Given the description of an element on the screen output the (x, y) to click on. 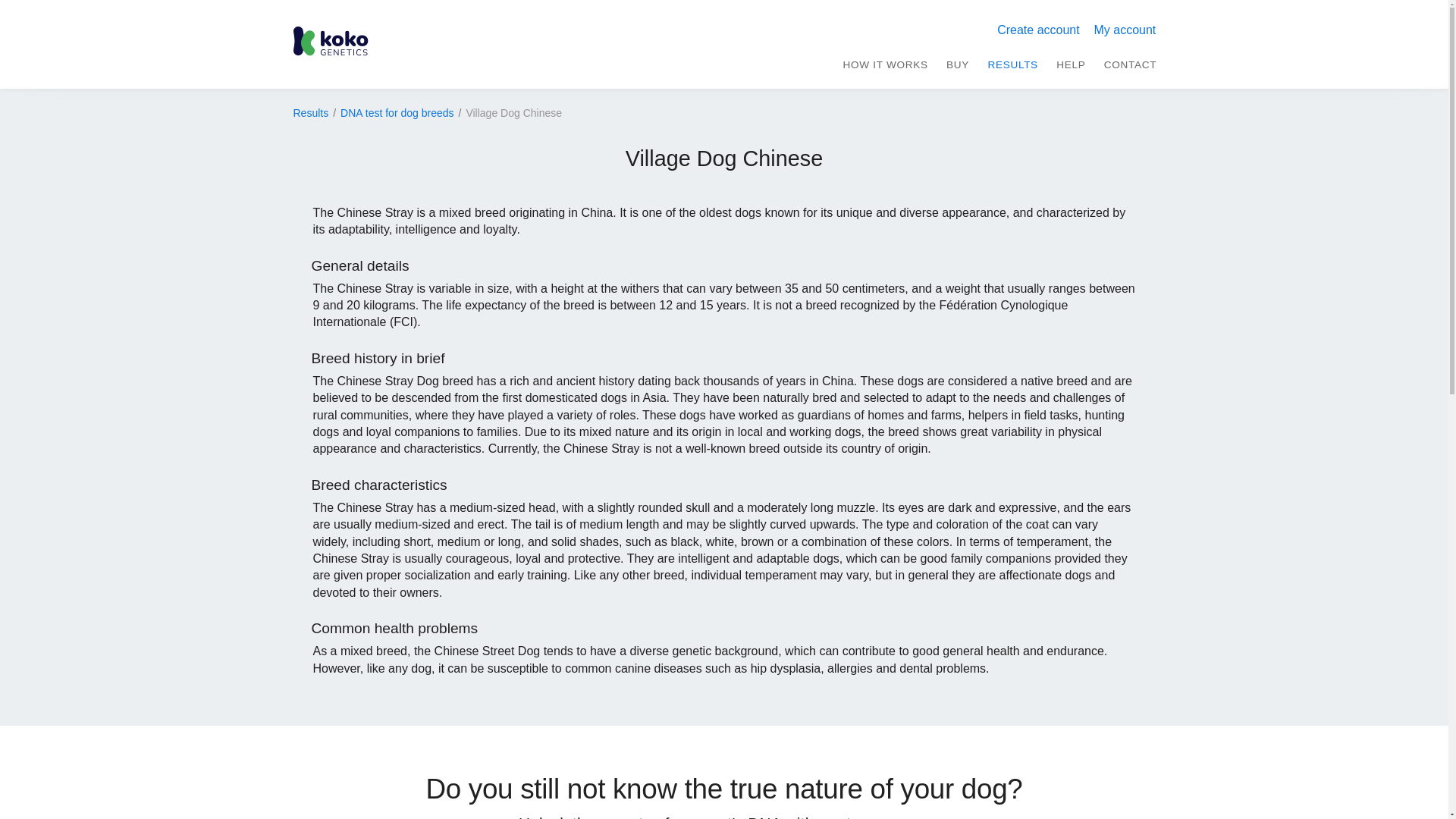
Create account (1037, 29)
Village Dog Chinese (513, 113)
CONTACT (1130, 64)
Results (310, 113)
BUY (957, 64)
Home (330, 43)
DNA test for dog breeds (396, 113)
My account (1123, 29)
HOW IT WORKS (885, 64)
RESULTS (1012, 64)
HELP (1070, 64)
